Given the description of an element on the screen output the (x, y) to click on. 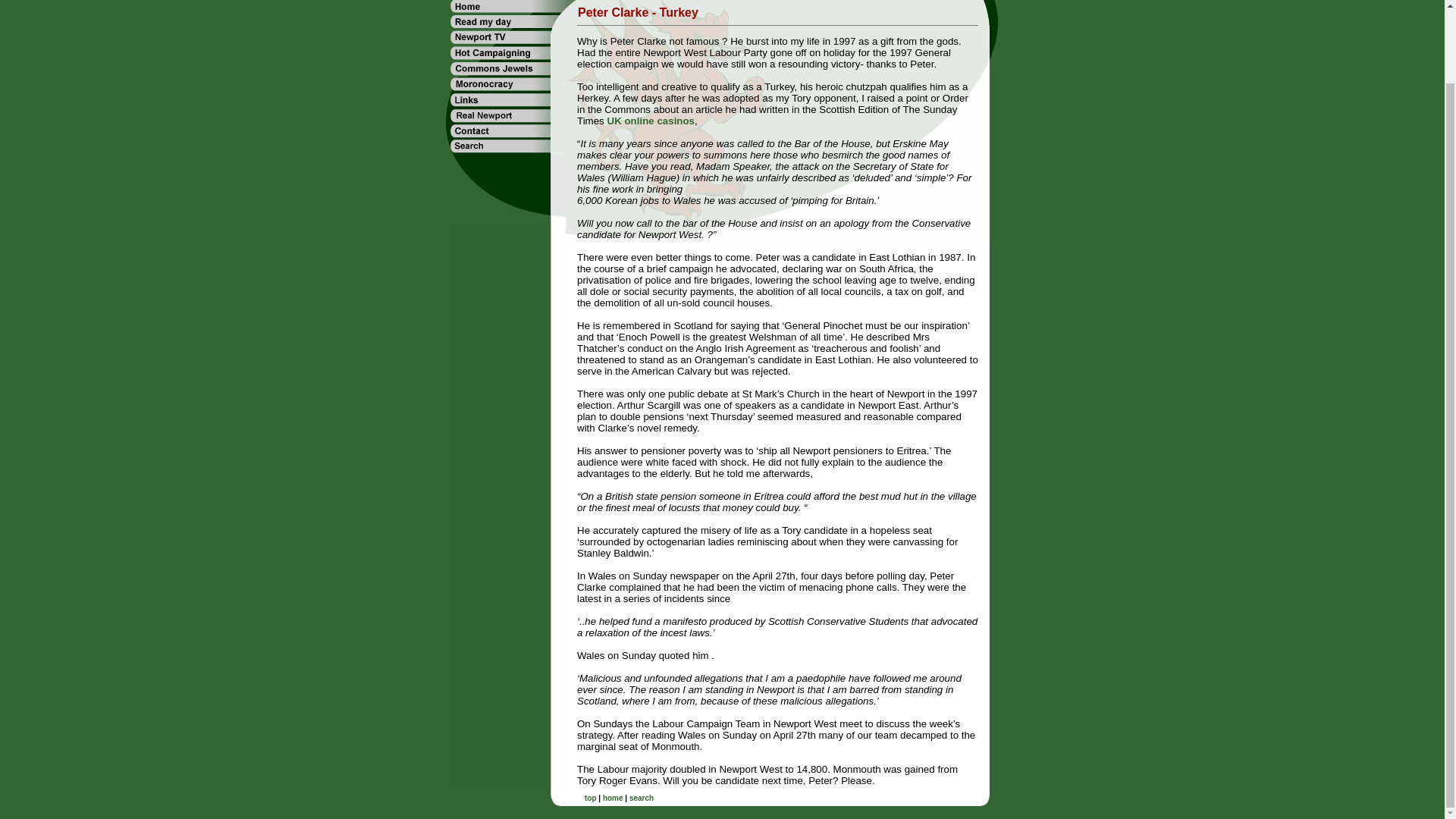
UK online casinos (650, 120)
home (612, 797)
top (590, 797)
search (640, 797)
